Given the description of an element on the screen output the (x, y) to click on. 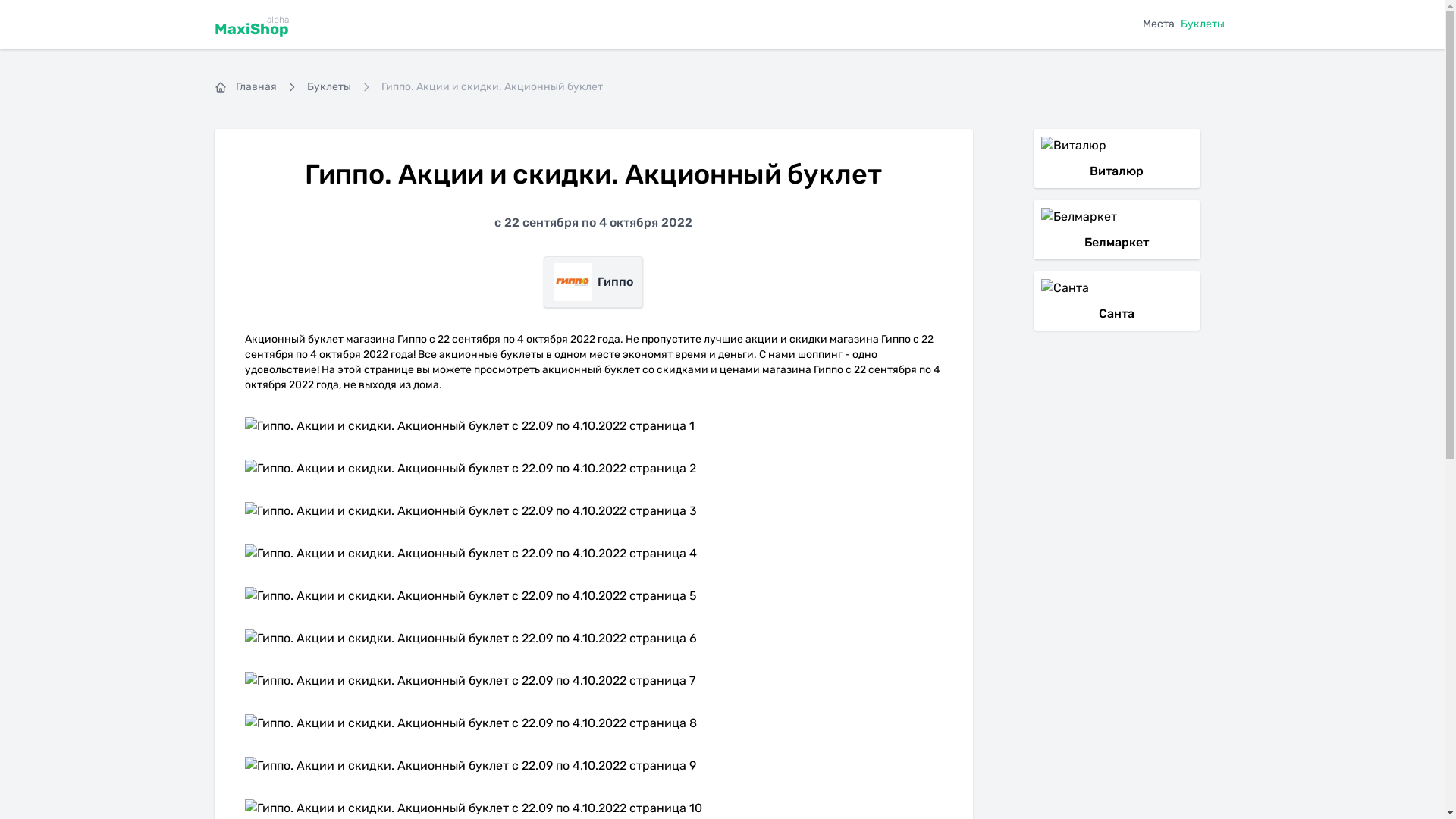
MaxiShop Element type: text (250, 28)
